Given the description of an element on the screen output the (x, y) to click on. 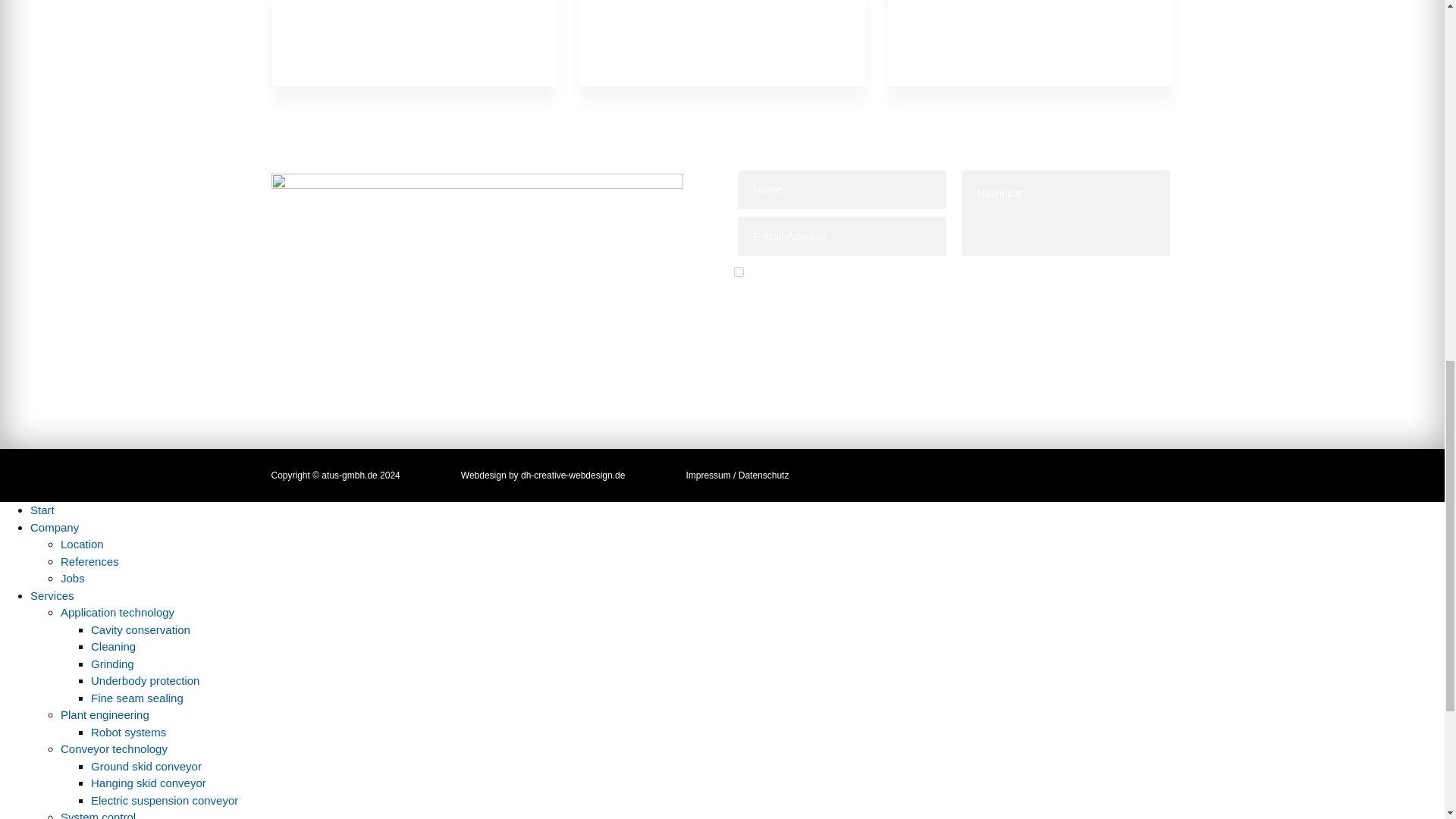
1 (738, 271)
Datenschutzbestimmungen (839, 290)
